Given the description of an element on the screen output the (x, y) to click on. 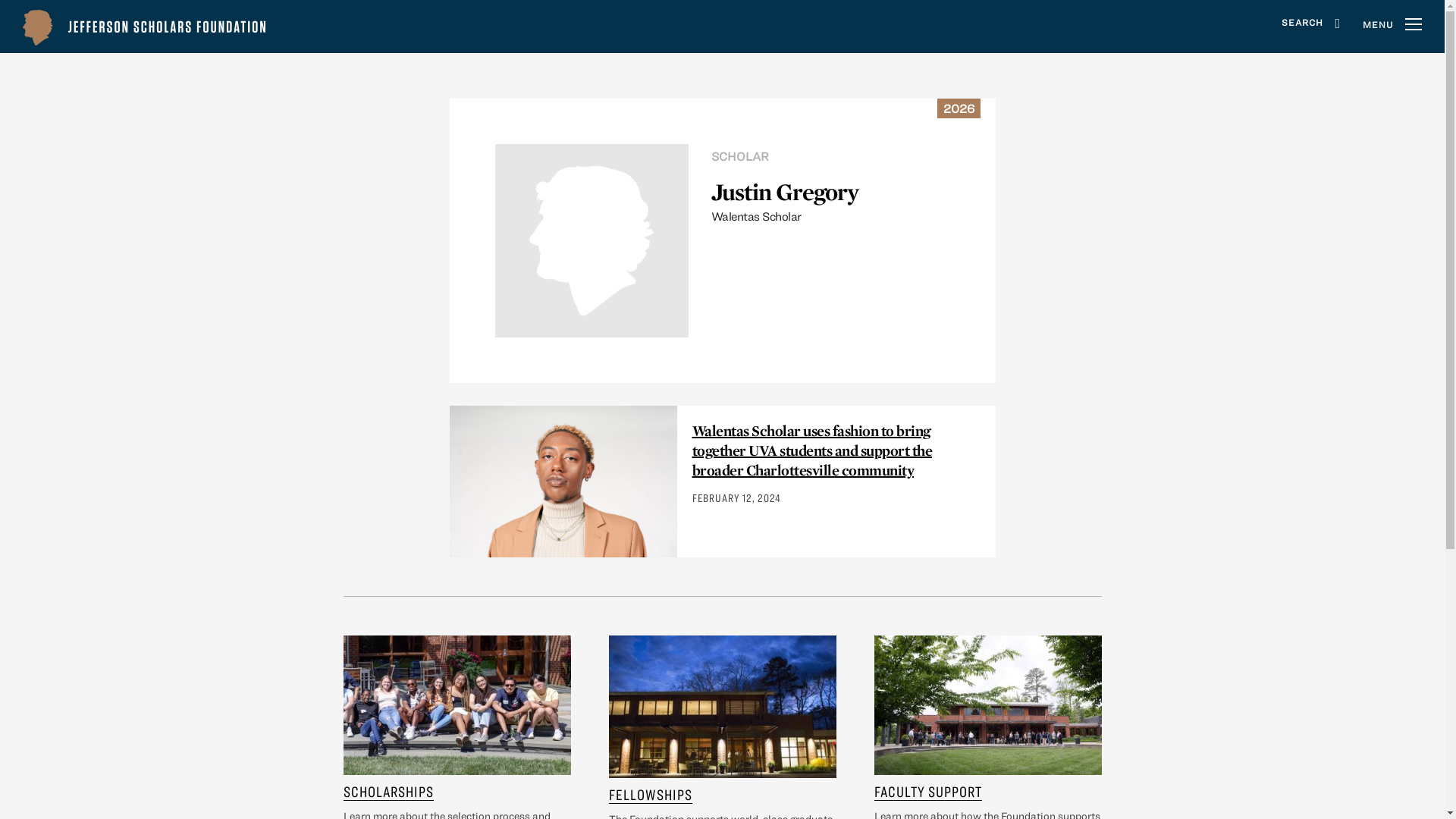
SEARCH (1310, 27)
Home (143, 26)
FELLOWSHIPS (649, 794)
SCHOLARSHIPS (387, 791)
FACULTY SUPPORT (927, 791)
MENU (1392, 25)
